Given the description of an element on the screen output the (x, y) to click on. 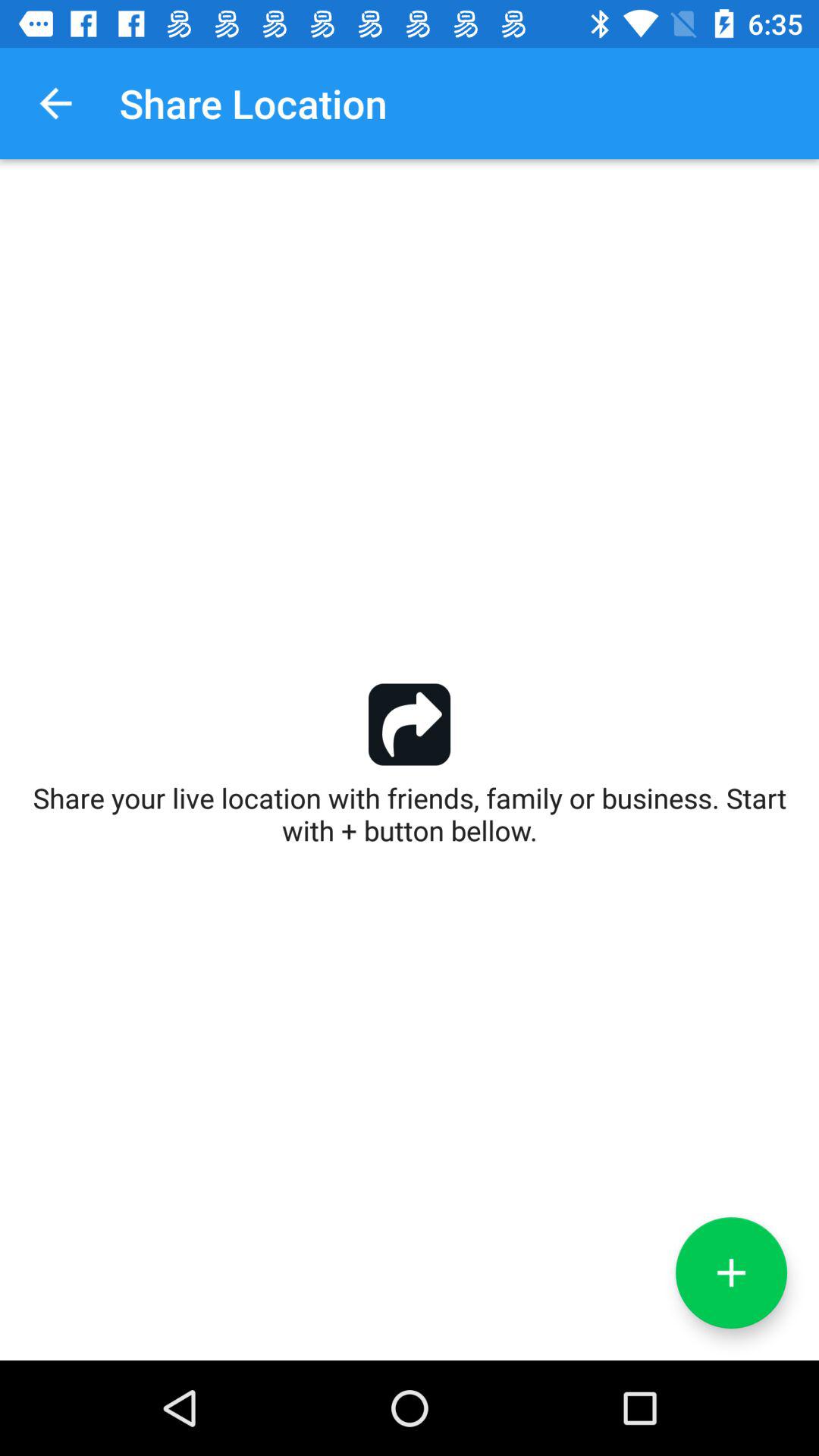
press the app to the left of share location (55, 103)
